Given the description of an element on the screen output the (x, y) to click on. 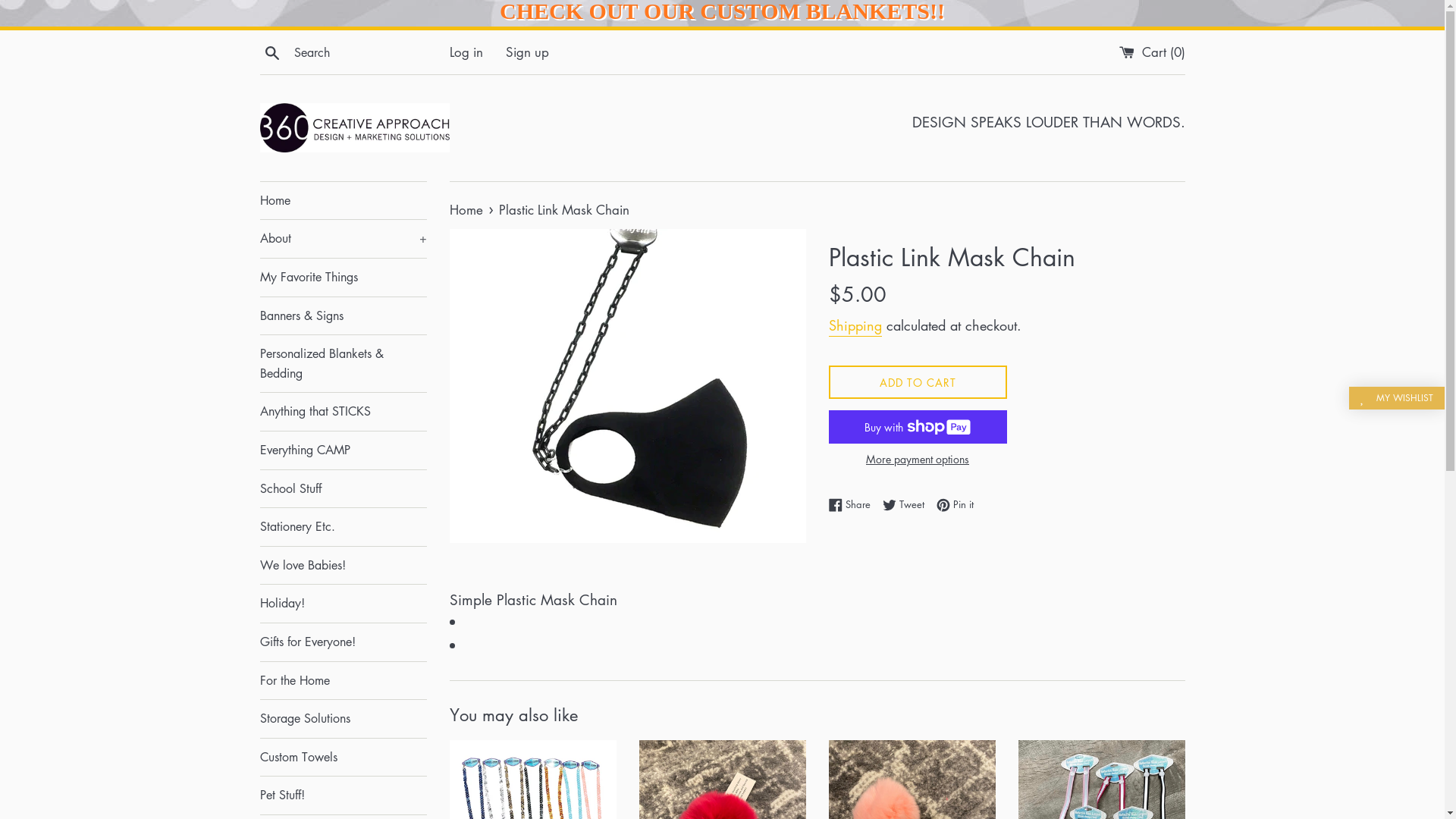
Shipping Element type: text (854, 326)
Stationery Etc. Element type: text (342, 527)
Log in Element type: text (465, 50)
Personalized Blankets & Bedding Element type: text (342, 363)
Custom Towels Element type: text (342, 757)
Storage Solutions Element type: text (342, 718)
Home Element type: text (467, 209)
Anything that STICKS Element type: text (342, 411)
Everything CAMP Element type: text (342, 450)
More payment options Element type: text (917, 458)
ADD TO CART Element type: text (917, 382)
Holiday! Element type: text (342, 603)
We love Babies! Element type: text (342, 565)
Share
Share on Facebook Element type: text (852, 503)
Gifts for Everyone! Element type: text (342, 642)
Pet Stuff! Element type: text (342, 795)
School Stuff Element type: text (342, 489)
Search Element type: text (271, 51)
Pin it
Pin on Pinterest Element type: text (953, 503)
Sign up Element type: text (526, 50)
About
+ Element type: text (342, 238)
Banners & Signs Element type: text (342, 316)
Tweet
Tweet on Twitter Element type: text (906, 503)
For the Home Element type: text (342, 680)
My Favorite Things Element type: text (342, 277)
Home Element type: text (342, 200)
Cart (0) Element type: text (1152, 50)
